Given the description of an element on the screen output the (x, y) to click on. 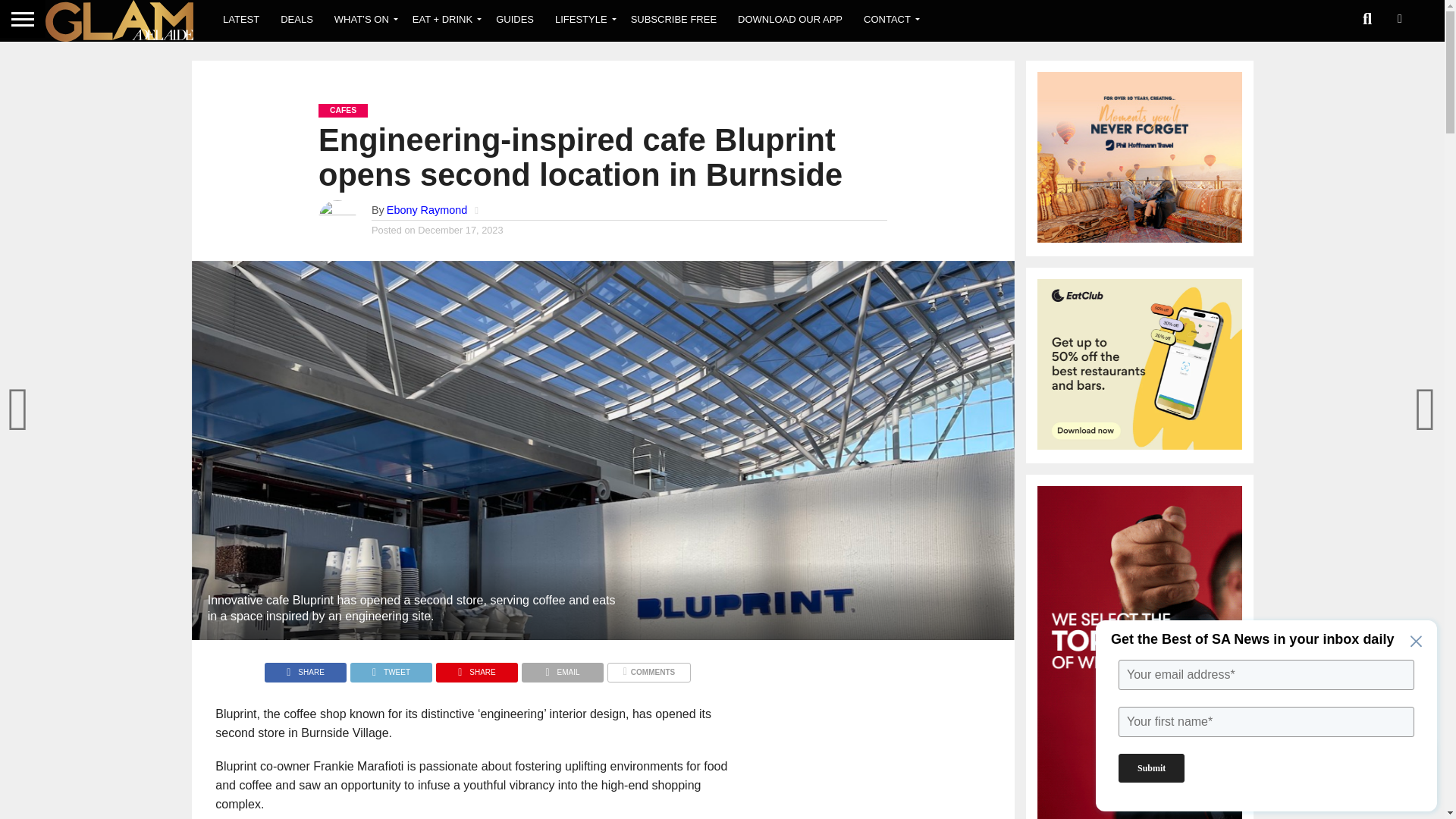
Tweet This Post (390, 667)
Share on Facebook (305, 667)
Pin This Post (476, 667)
Posts by Ebony Raymond (427, 209)
